Given the description of an element on the screen output the (x, y) to click on. 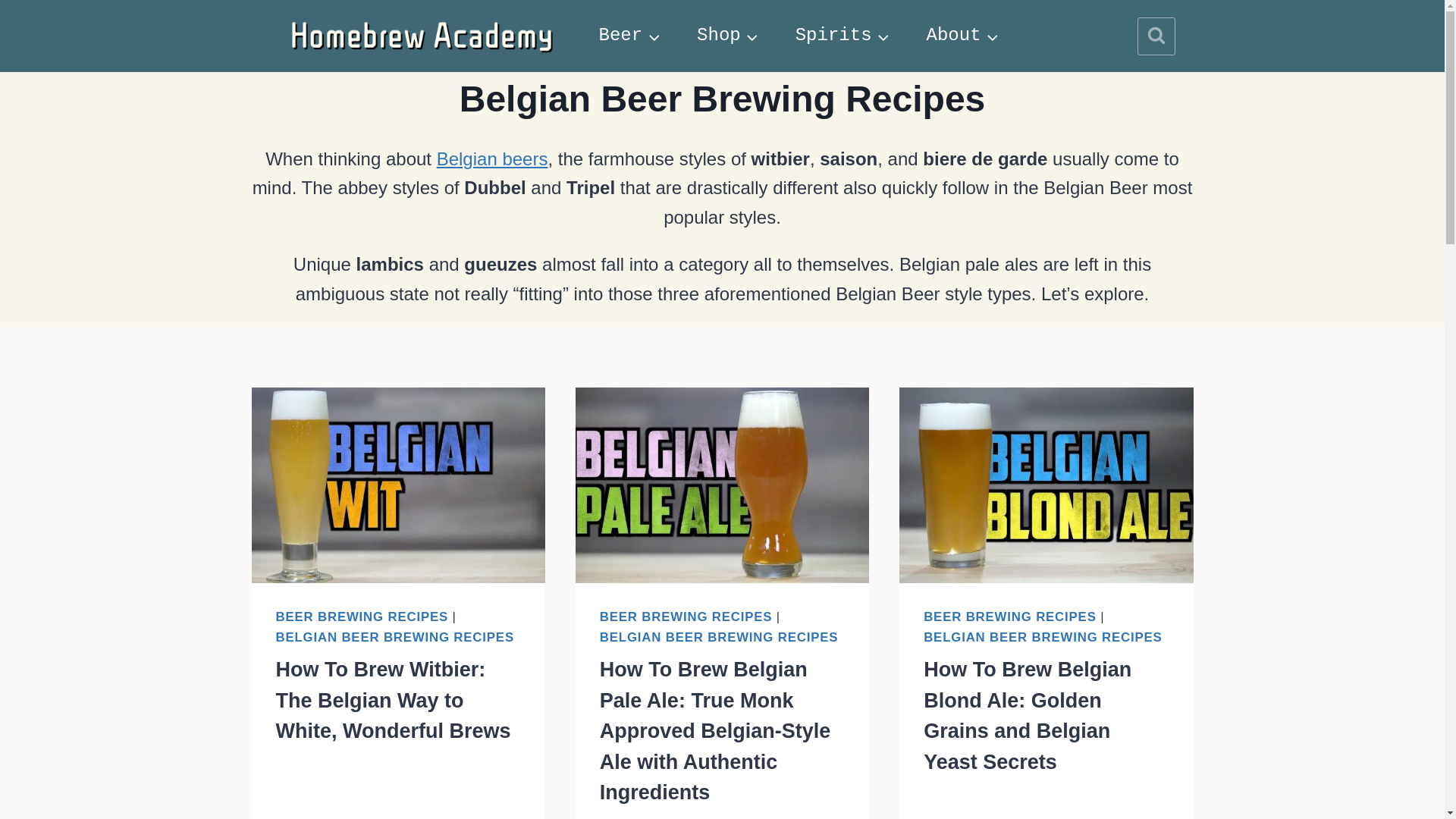
Spirits (842, 35)
BELGIAN BEER BREWING RECIPES (394, 636)
Shop (727, 35)
BEER BREWING RECIPES (362, 616)
Belgian beers (492, 158)
Beer (629, 35)
About (962, 35)
